Given the description of an element on the screen output the (x, y) to click on. 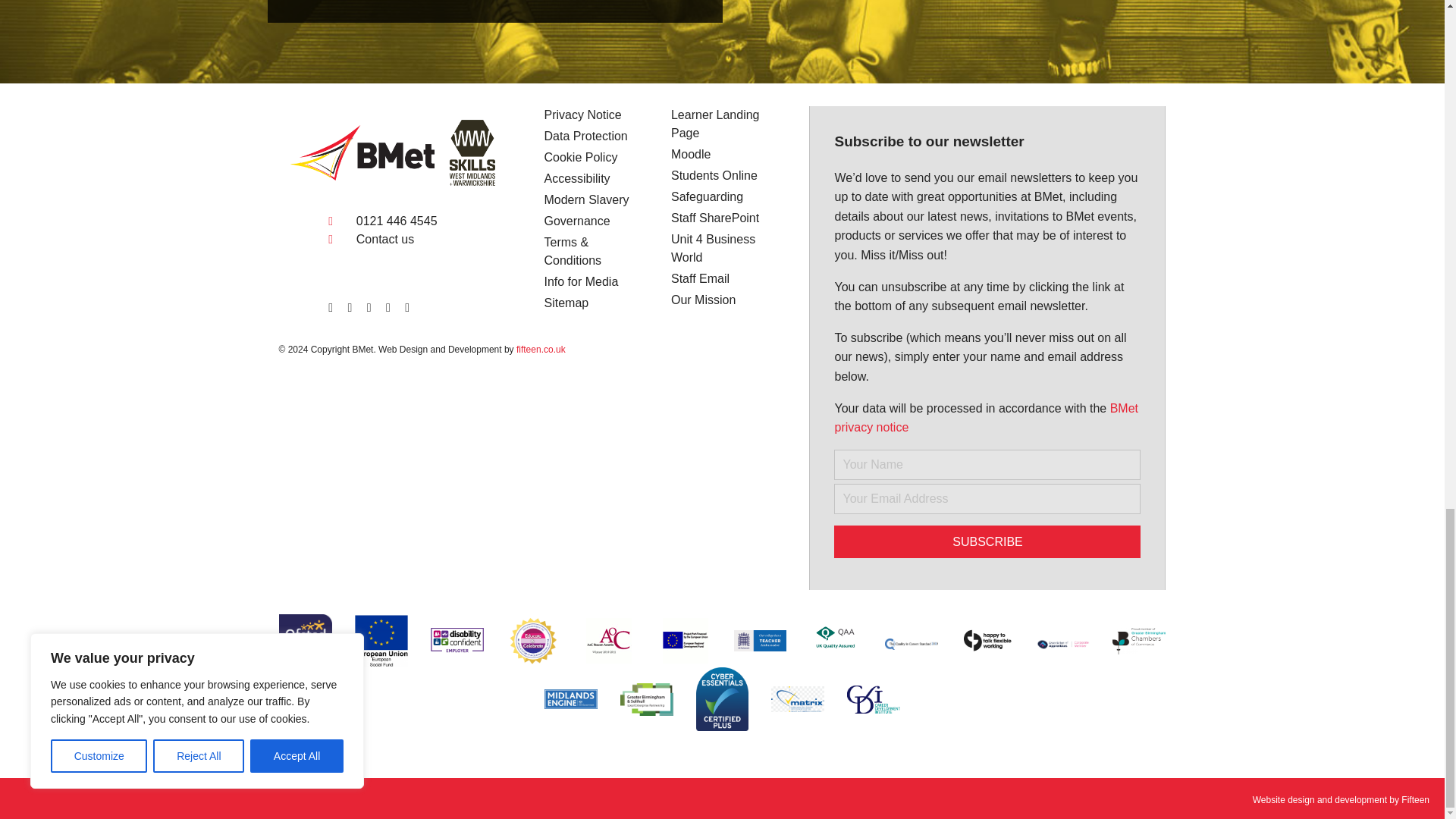
website design and development by Fifteen (1319, 799)
Subscribe (987, 541)
Fifteen (1414, 799)
